Given the description of an element on the screen output the (x, y) to click on. 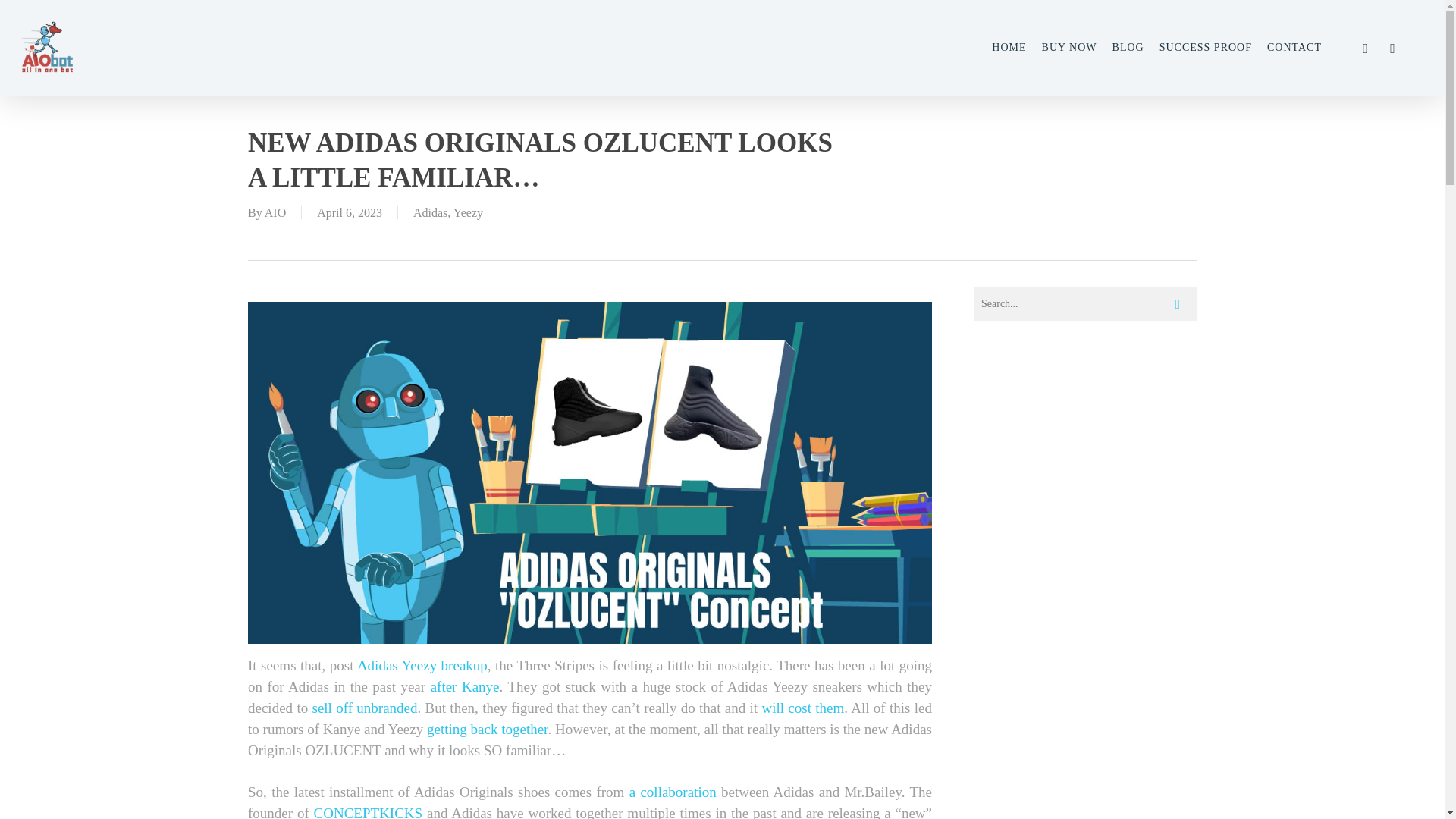
AIO (274, 212)
Adidas Yeezy breakup (421, 665)
BLOG (1128, 47)
INSTAGRAM (1392, 47)
Posts by AIO (274, 212)
CONCEPTKICKS (368, 812)
getting back together (486, 729)
sell off unbranded (365, 707)
Adidas (429, 212)
Search for: (1085, 304)
BUY NOW (1069, 47)
CONTACT (1294, 47)
X-TWITTER (1365, 47)
SUCCESS PROOF (1205, 47)
after Kanye (464, 686)
